Given the description of an element on the screen output the (x, y) to click on. 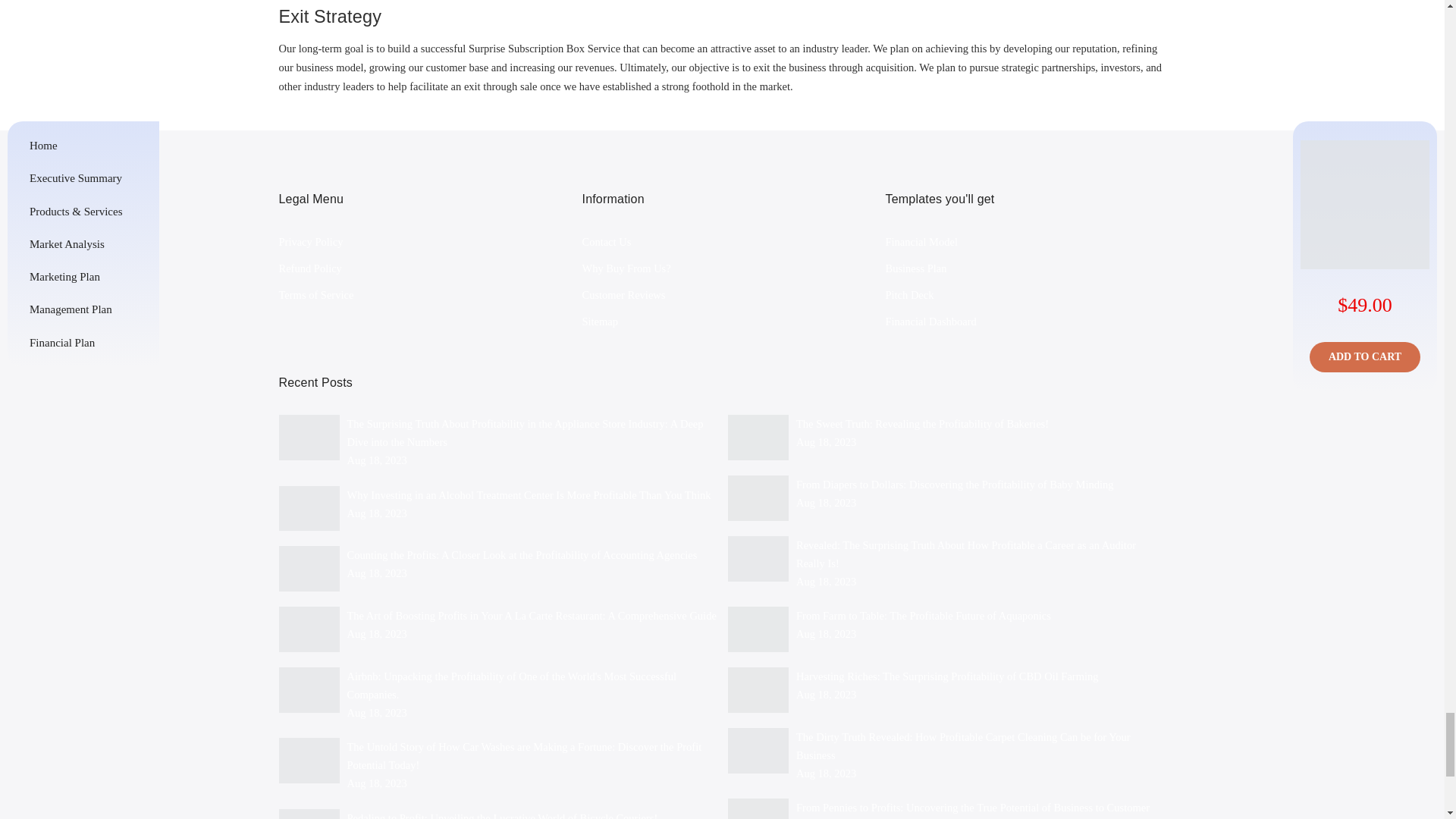
Sitemap (598, 321)
Privacy Policy (311, 241)
Terms of Service (316, 295)
Contact Us (605, 241)
Customer Reviews (622, 295)
Why Buy From Us? (624, 268)
Refund Policy (310, 268)
